Given the description of an element on the screen output the (x, y) to click on. 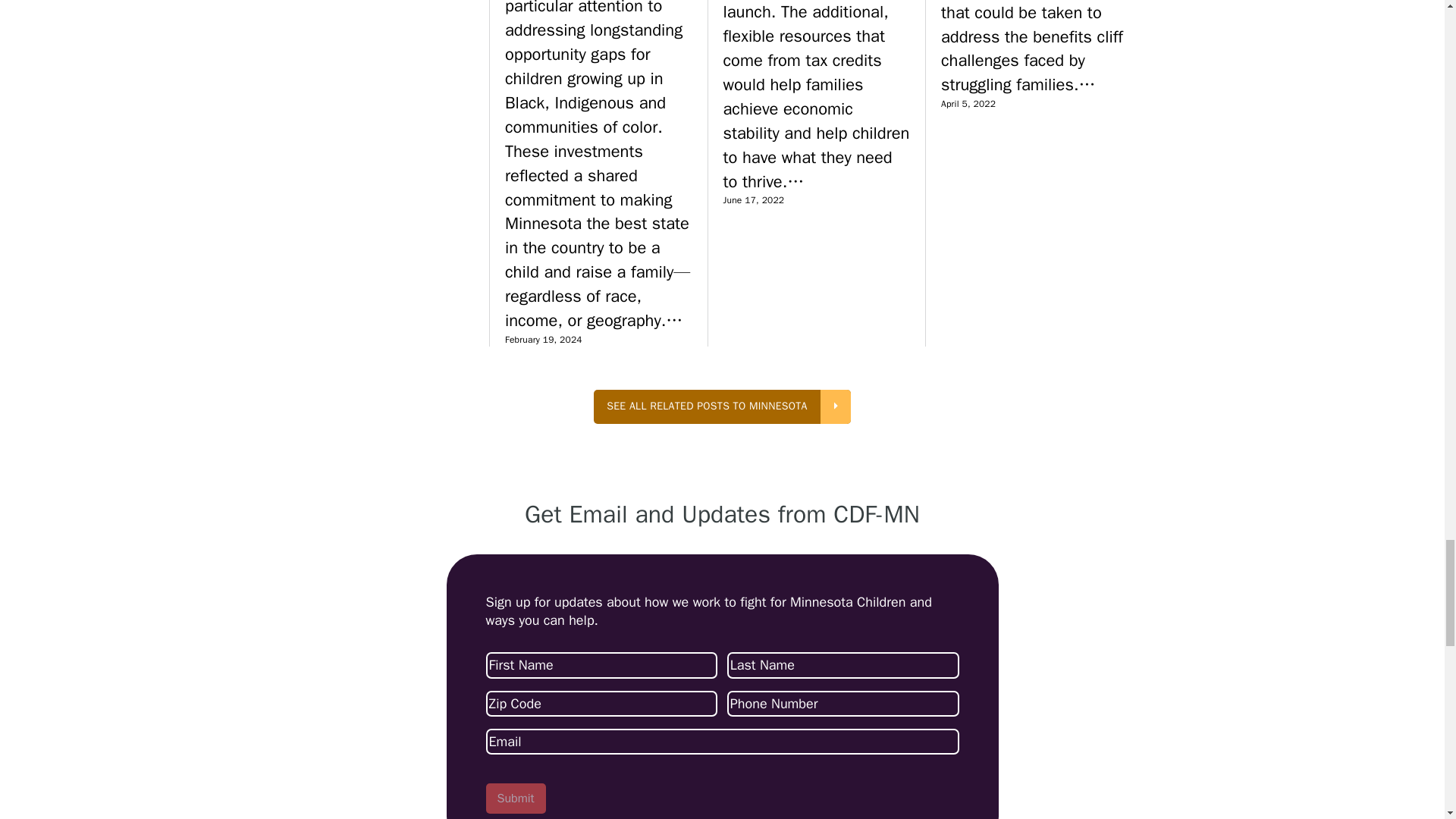
Submit (514, 798)
